Given the description of an element on the screen output the (x, y) to click on. 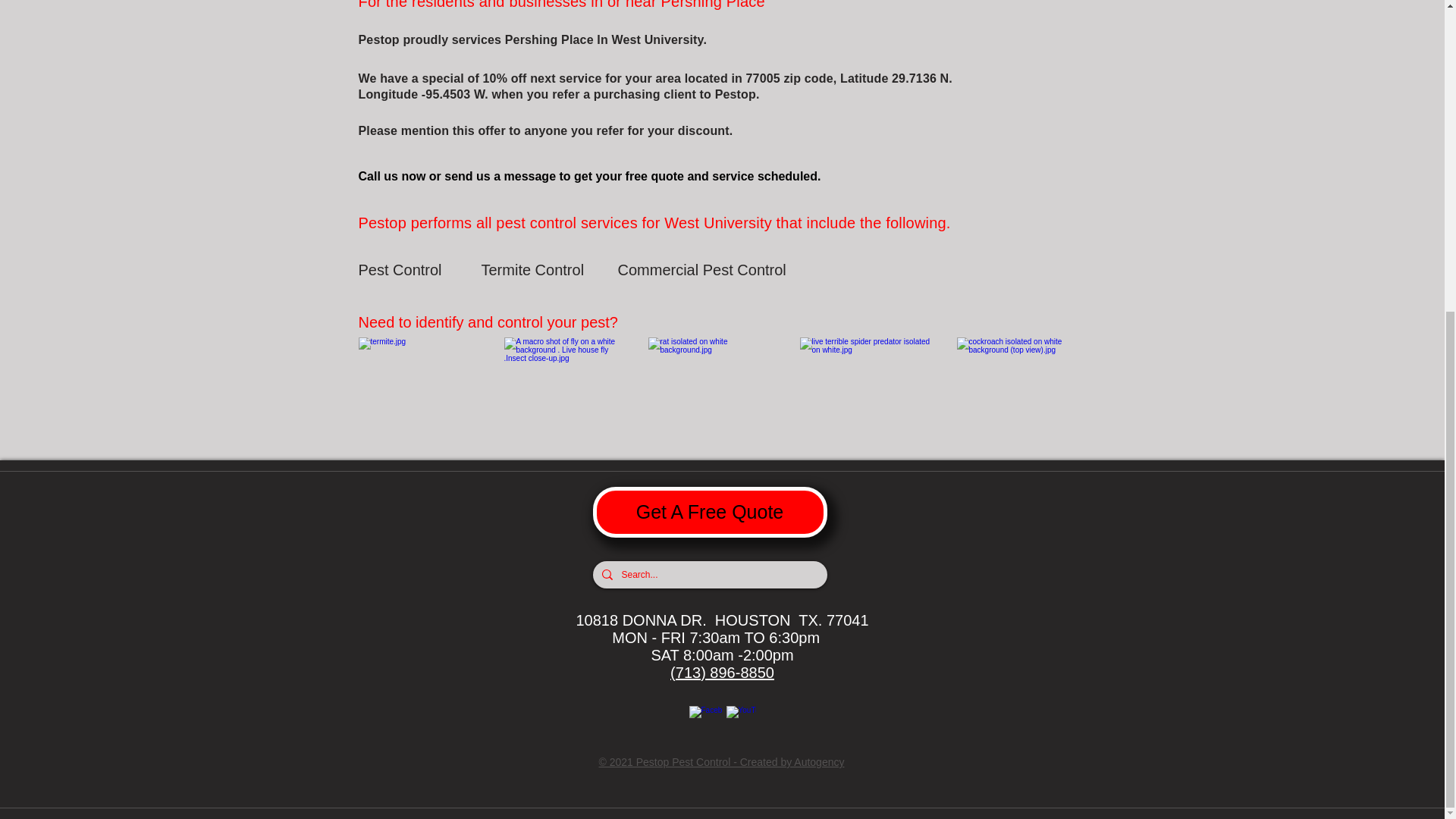
Termite Control (534, 269)
Need to identify and control your pest? (496, 322)
Commercial Pest Control (701, 269)
Pest Control (411, 269)
Get A Free Quote (709, 511)
